Given the description of an element on the screen output the (x, y) to click on. 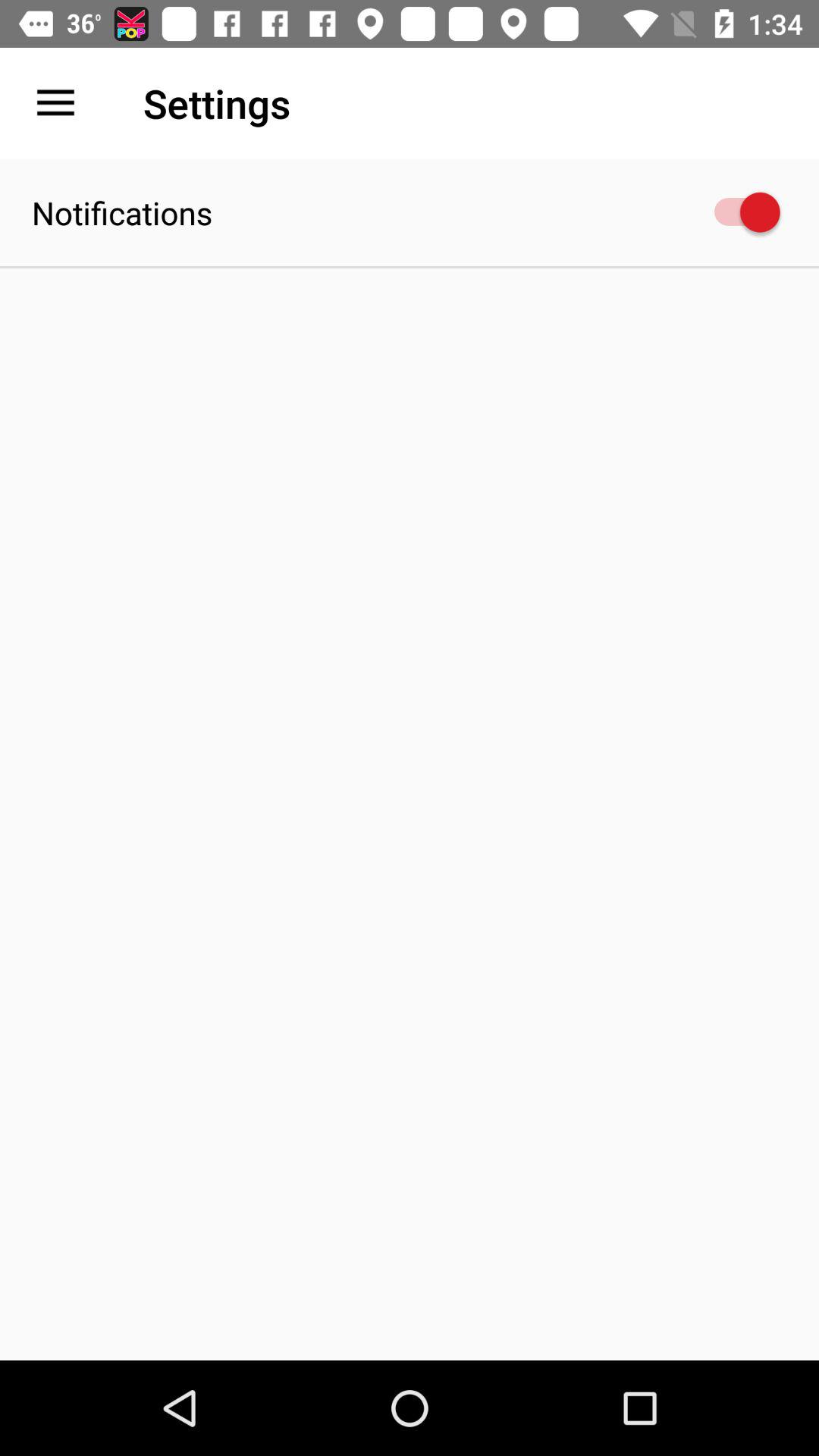
launch item to the right of notifications item (739, 212)
